Given the description of an element on the screen output the (x, y) to click on. 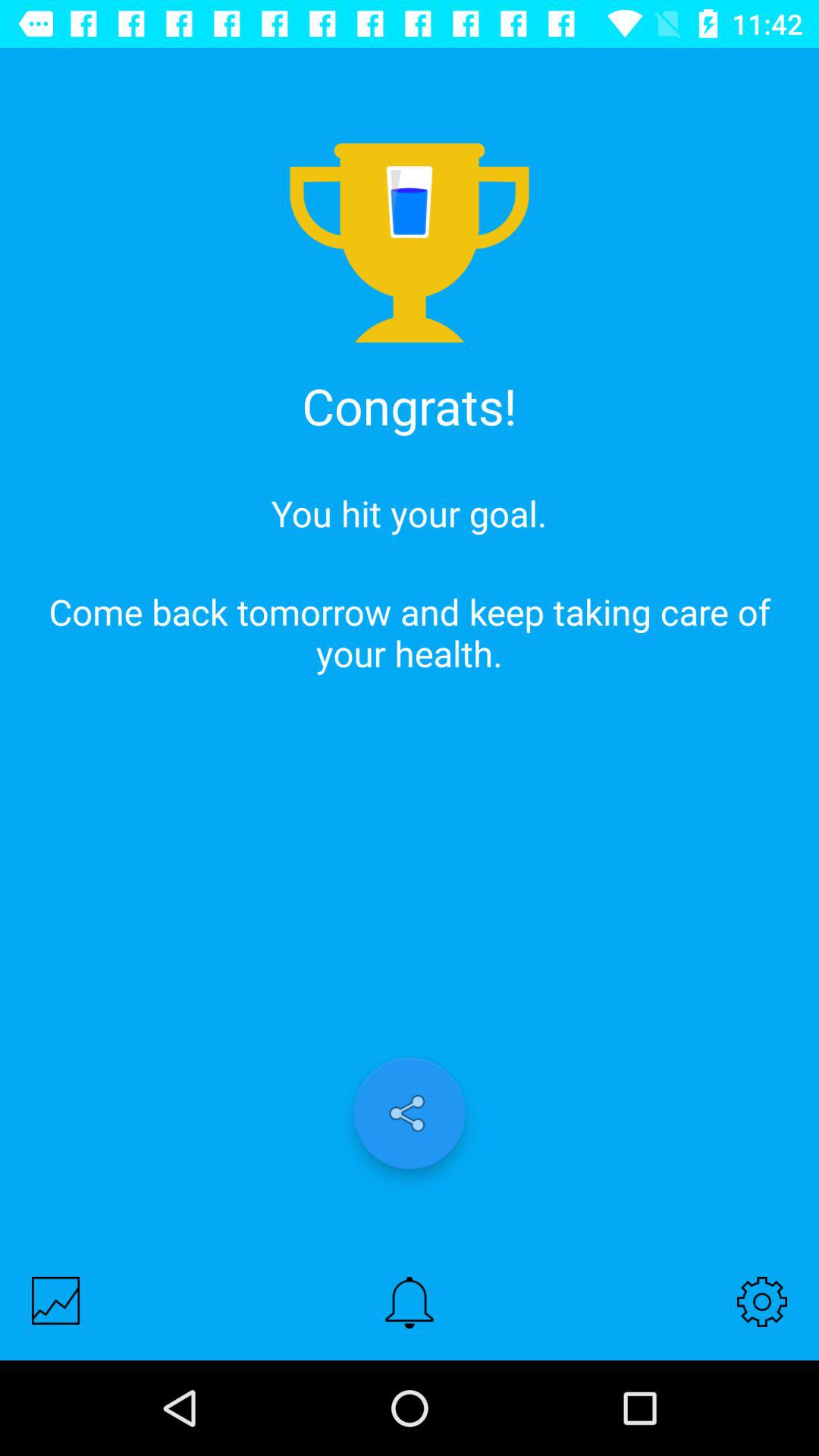
click the icon below come back tomorrow icon (762, 1301)
